Given the description of an element on the screen output the (x, y) to click on. 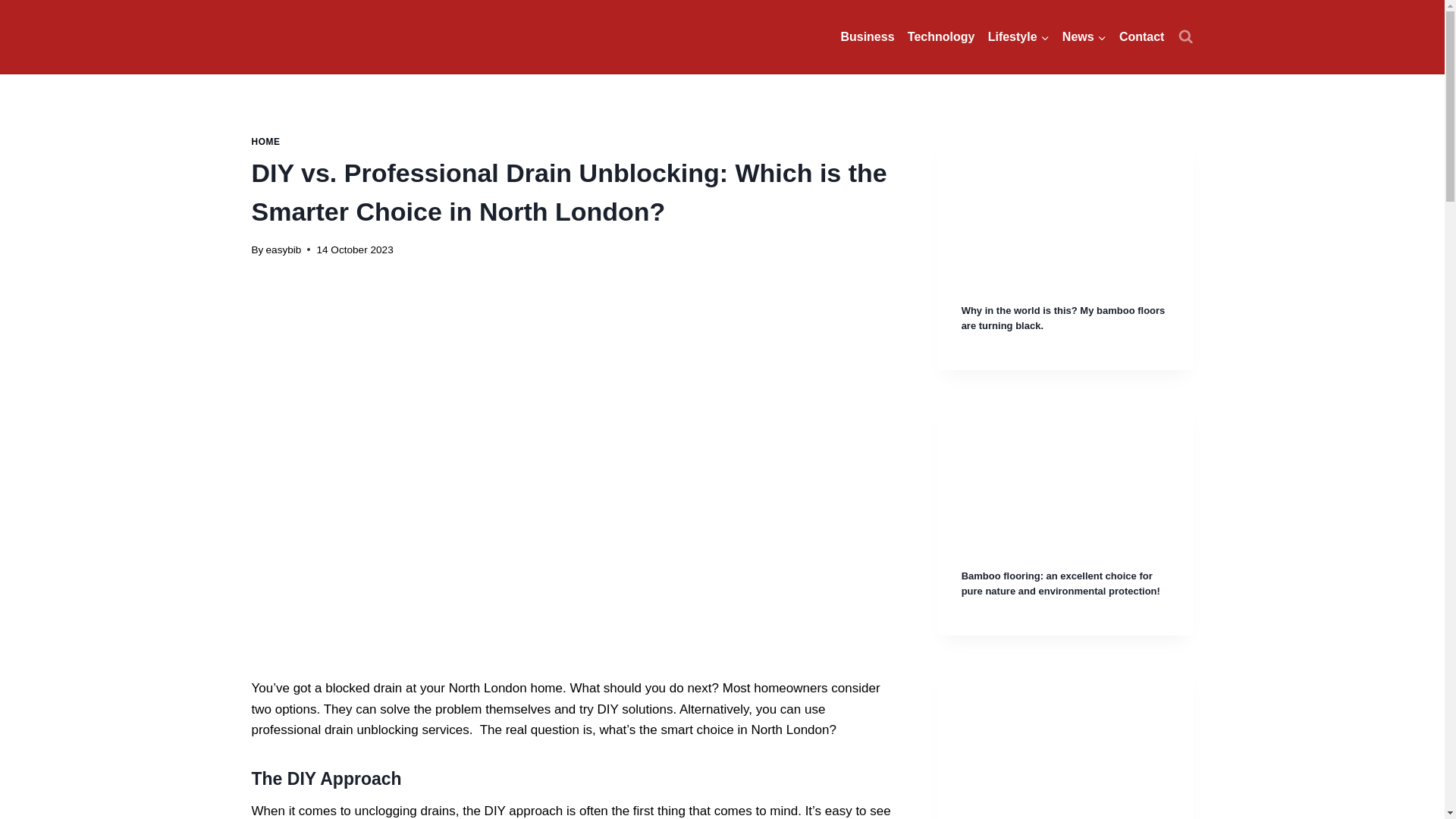
Contact (1141, 36)
easybib (283, 249)
Technology (941, 36)
News (1083, 36)
HOME (266, 141)
Lifestyle (1018, 36)
Business (867, 36)
